Given the description of an element on the screen output the (x, y) to click on. 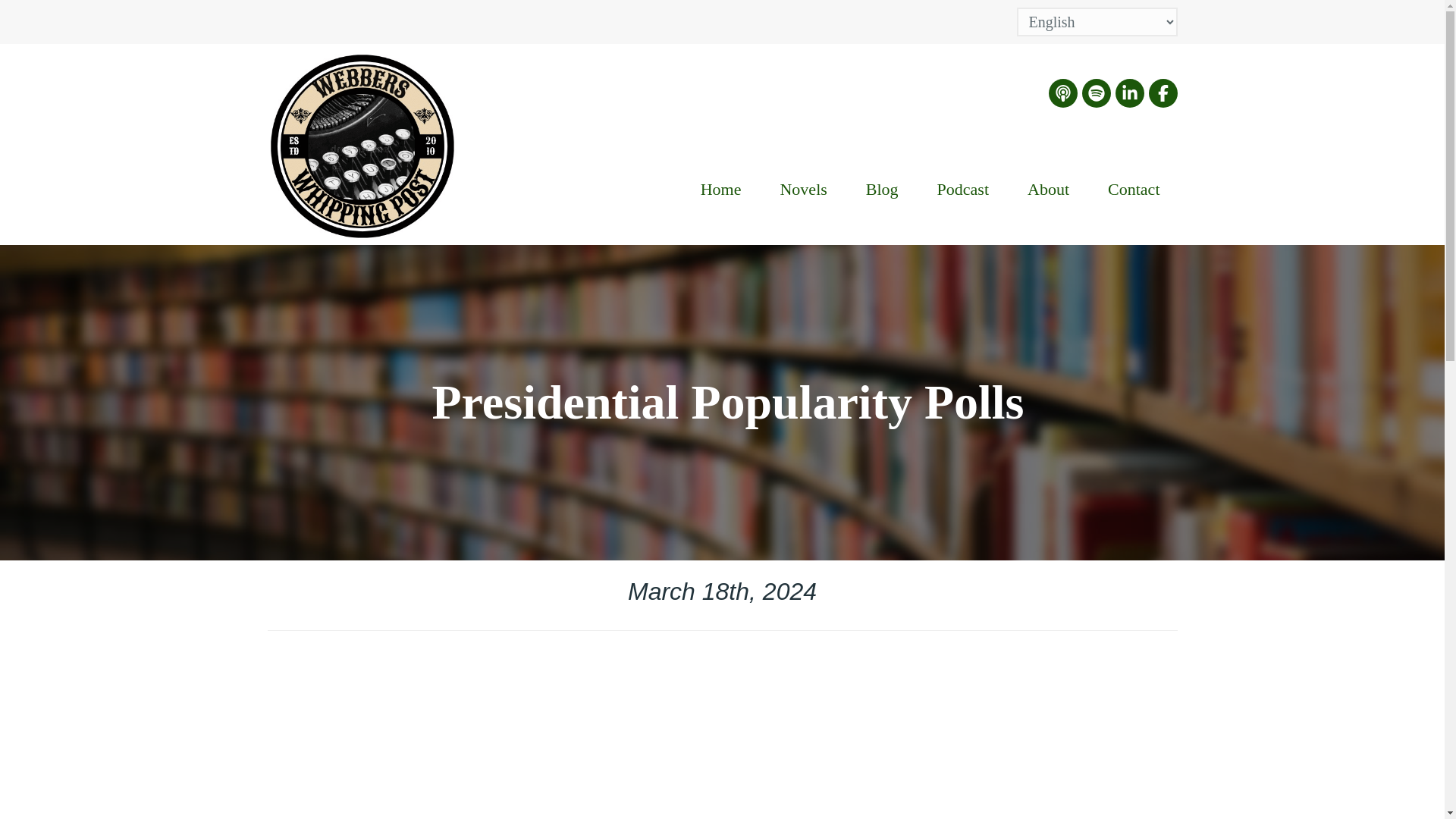
Home (720, 190)
Blog (882, 190)
Contact (1133, 190)
Podcast (962, 190)
About (1048, 190)
Novels (802, 190)
